Given the description of an element on the screen output the (x, y) to click on. 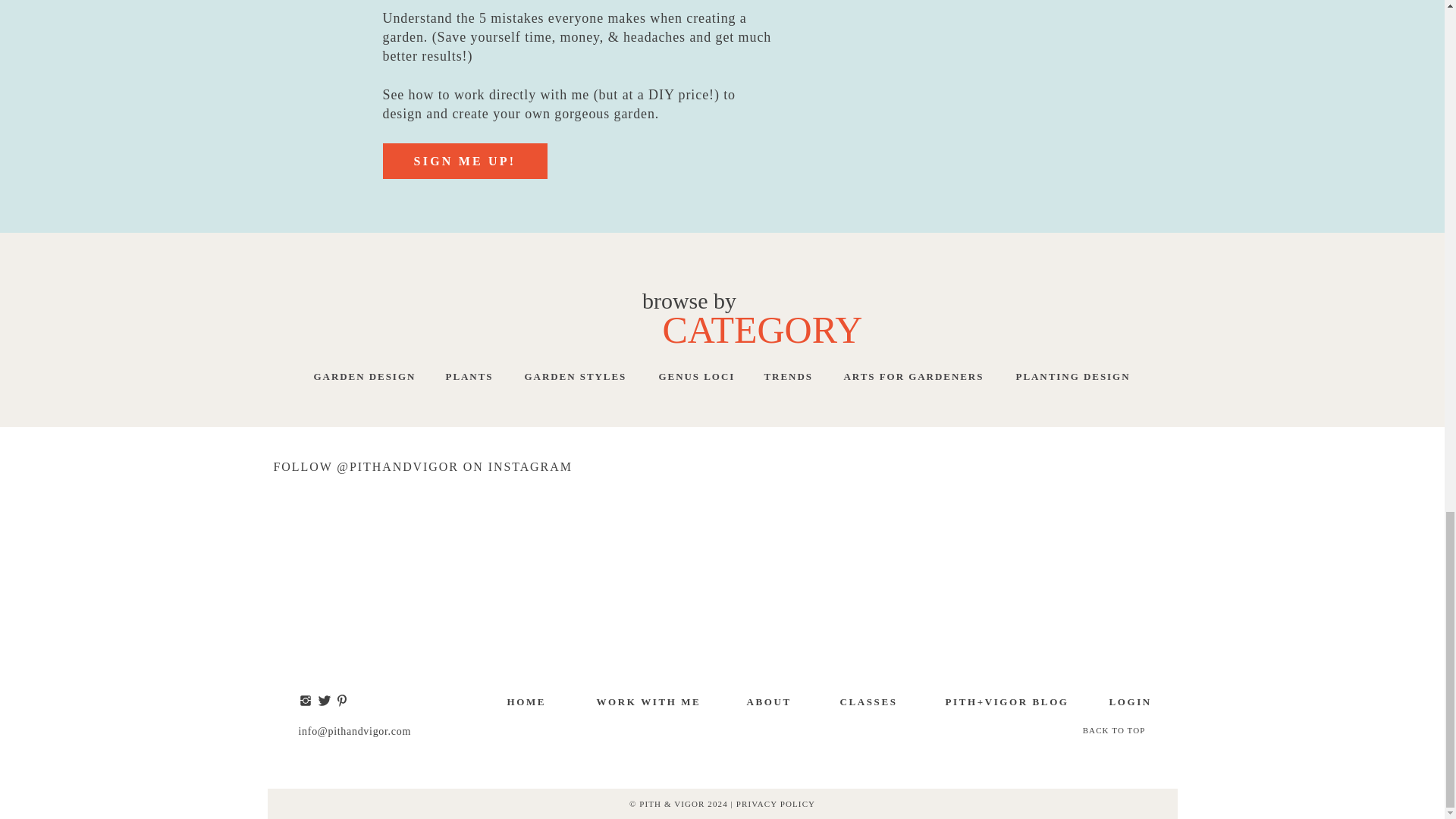
Tobiah Horton (485, 170)
Picture 251 (530, 70)
